Given the description of an element on the screen output the (x, y) to click on. 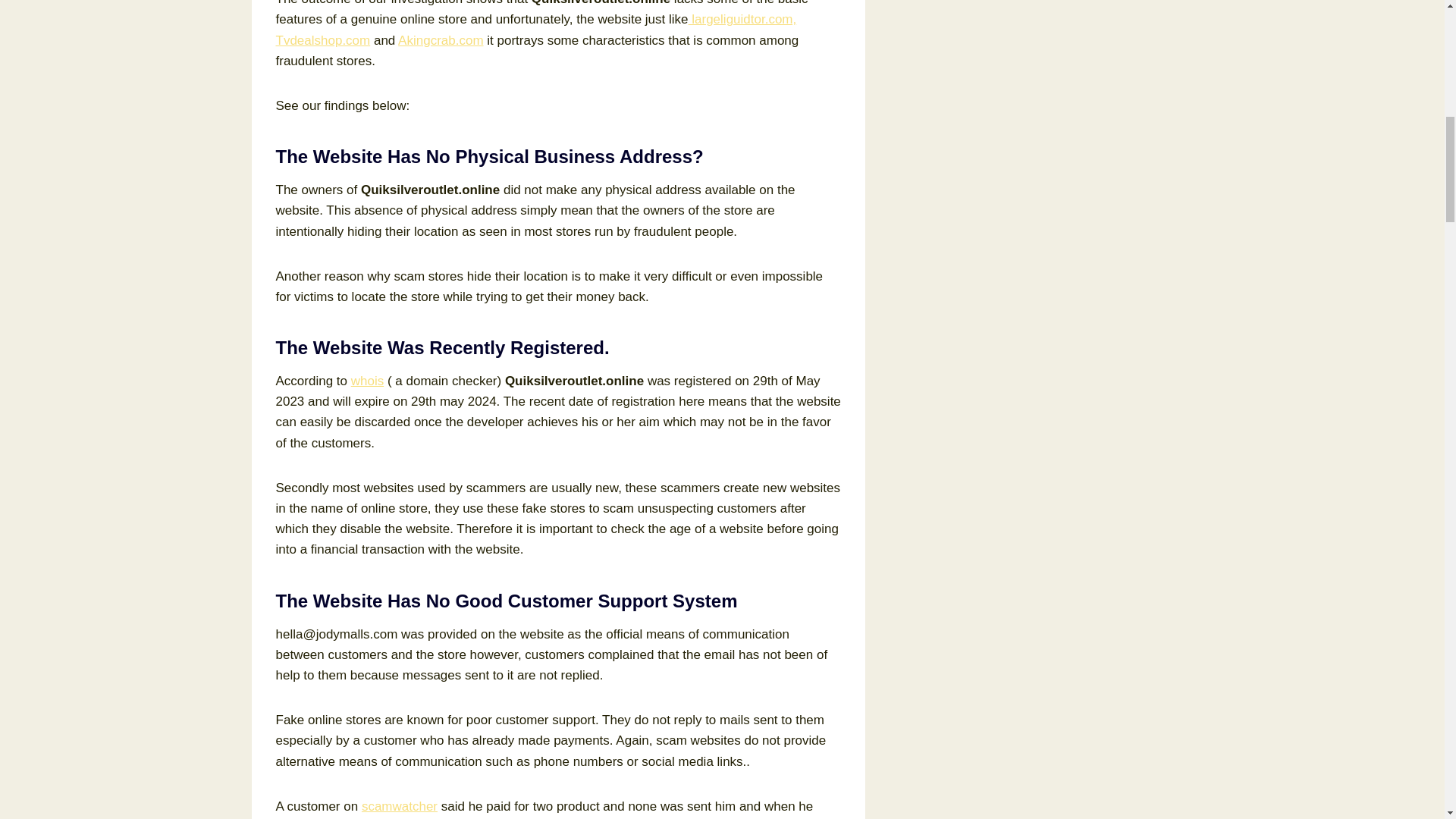
Akingcrab.com (440, 40)
scamwatcher (399, 806)
largeliguidtor.com, (742, 19)
Tvdealshop.com (323, 40)
whois (367, 380)
